Given the description of an element on the screen output the (x, y) to click on. 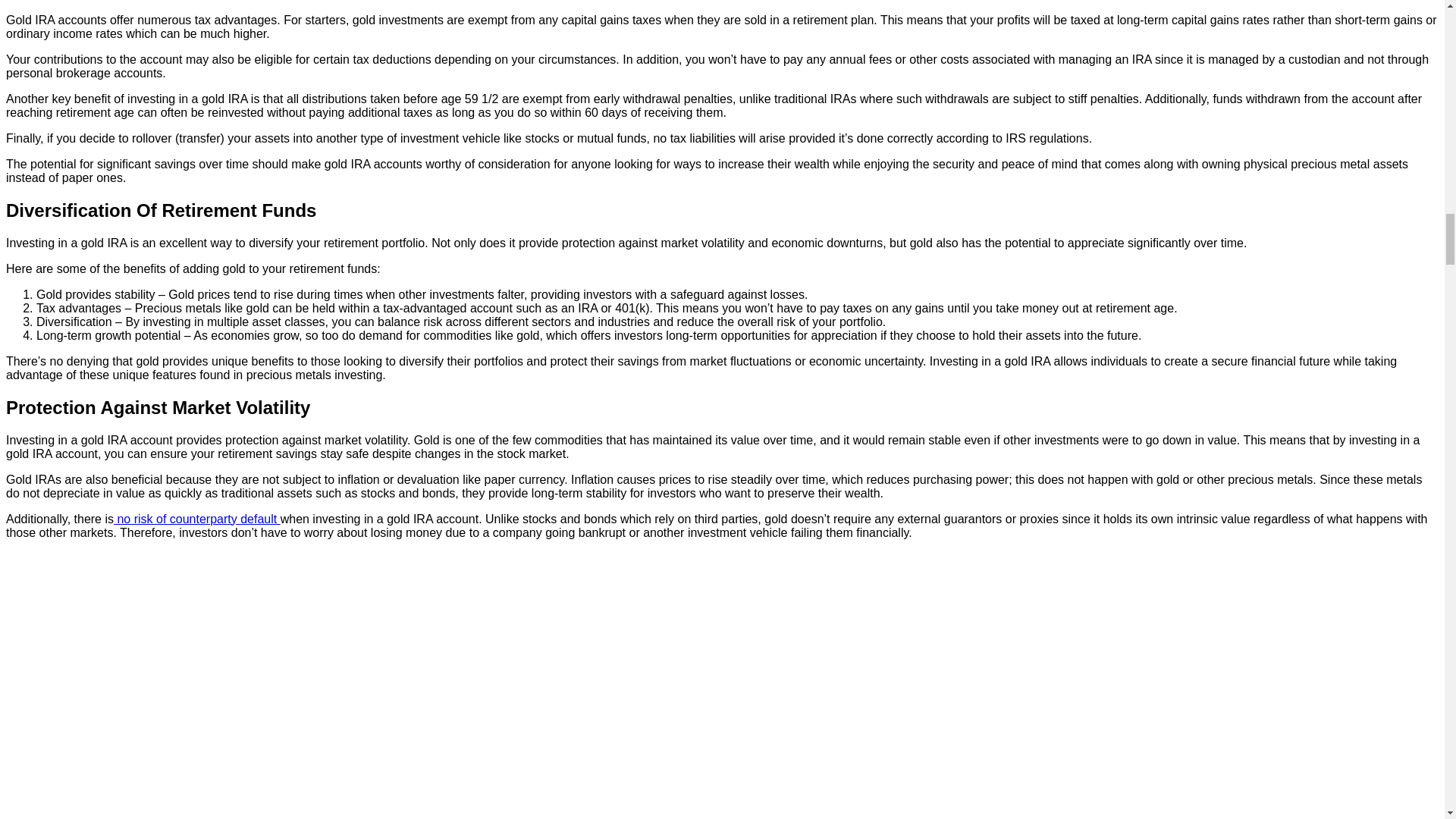
no risk of counterparty default (197, 518)
